Given the description of an element on the screen output the (x, y) to click on. 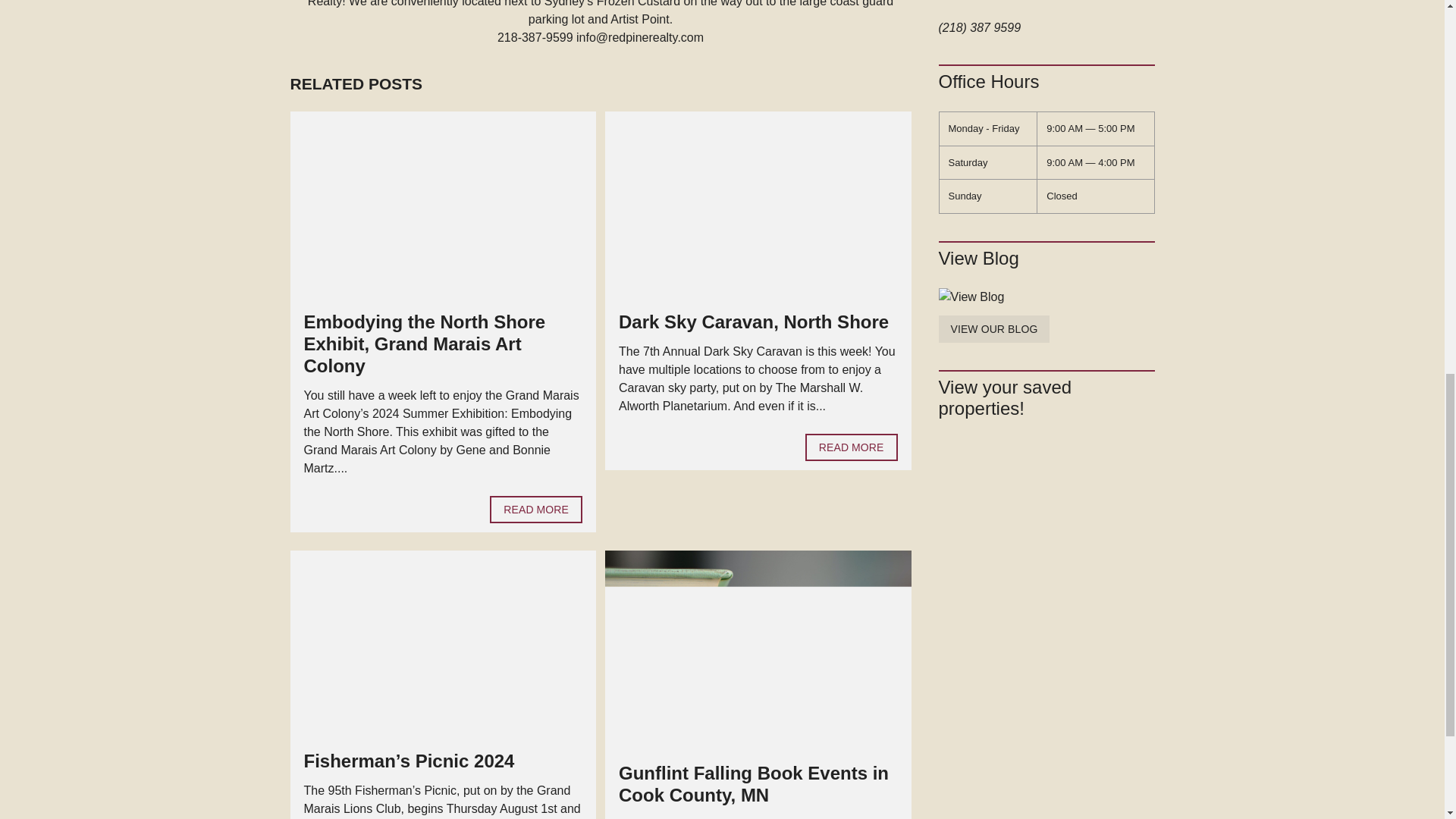
View Blog (1046, 297)
View Blog (994, 329)
Dark Sky Caravan, North Shore (753, 322)
Embodying the North Shore Exhibit, Grand Marais Art Colony (535, 509)
Embodying the North Shore Exhibit, Grand Marais Art Colony (423, 343)
Gunflint Falling Book Events in Cook County, MN (753, 783)
Dark Sky Caravan, North Shore (851, 447)
